Given the description of an element on the screen output the (x, y) to click on. 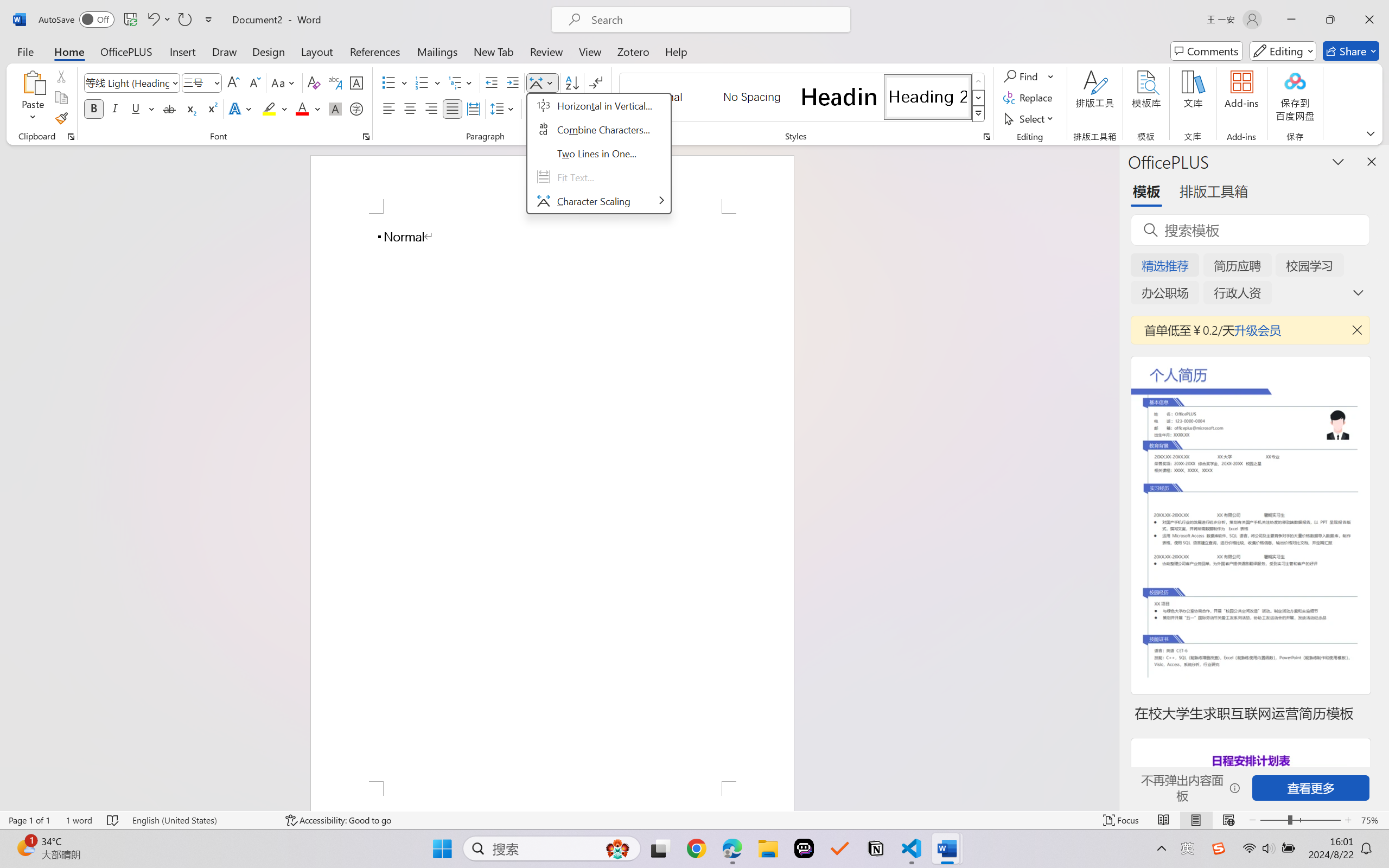
View (589, 51)
References (375, 51)
Heading 2 (927, 96)
Clear Formatting (313, 82)
Font (126, 82)
Show/Hide Editing Marks (595, 82)
